Given the description of an element on the screen output the (x, y) to click on. 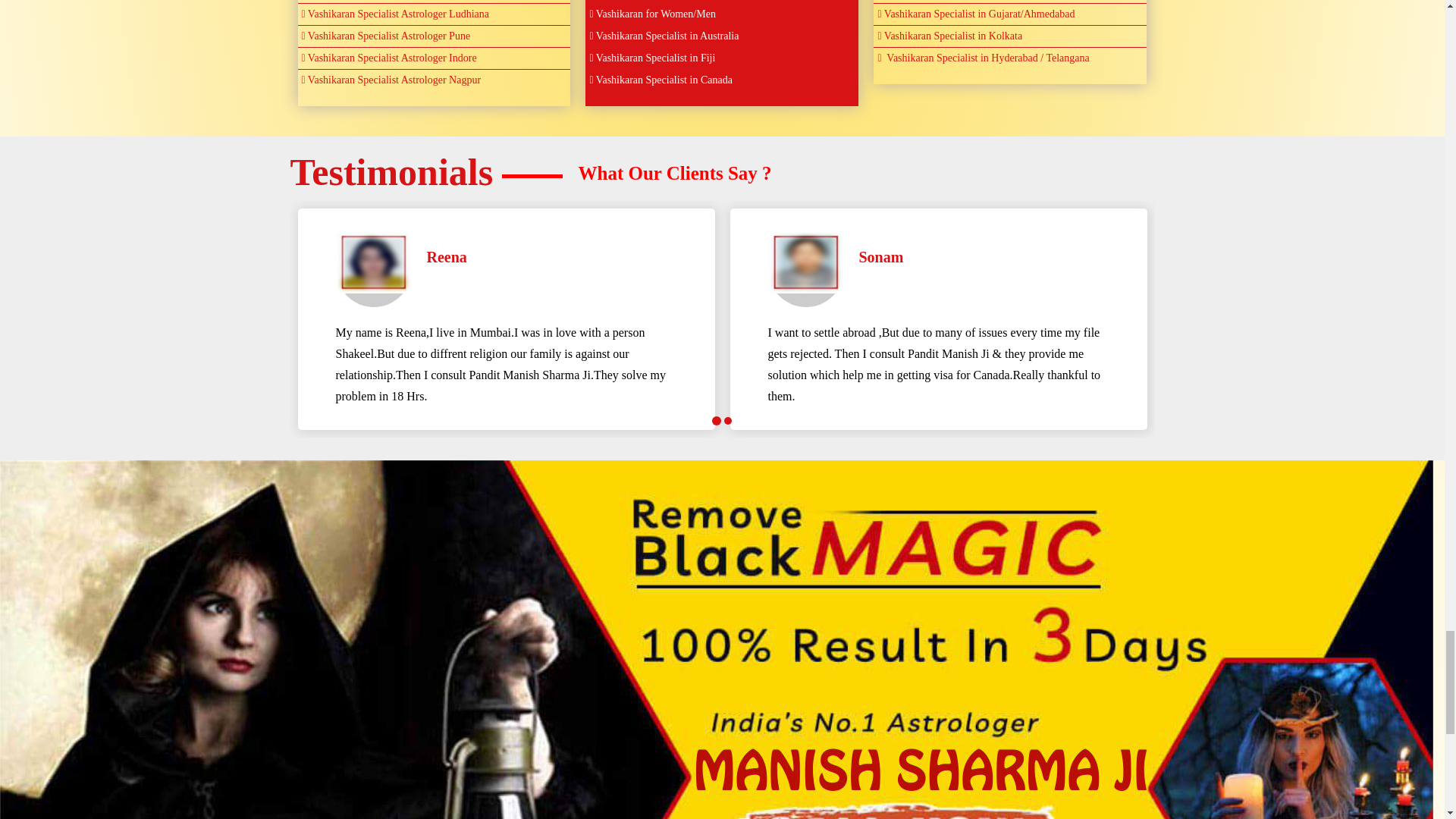
 Vashikaran Specialist Astrologer Pune (433, 36)
 Vashikaran Specialist Astrologer Jalandhar (433, 2)
 Vashikaran Specialist Astrologer Indore (433, 57)
 Vashikaran Specialist Astrologer Ludhiana (433, 14)
 Vashikaran Specialist Astrologer Nagpur (433, 79)
